Given the description of an element on the screen output the (x, y) to click on. 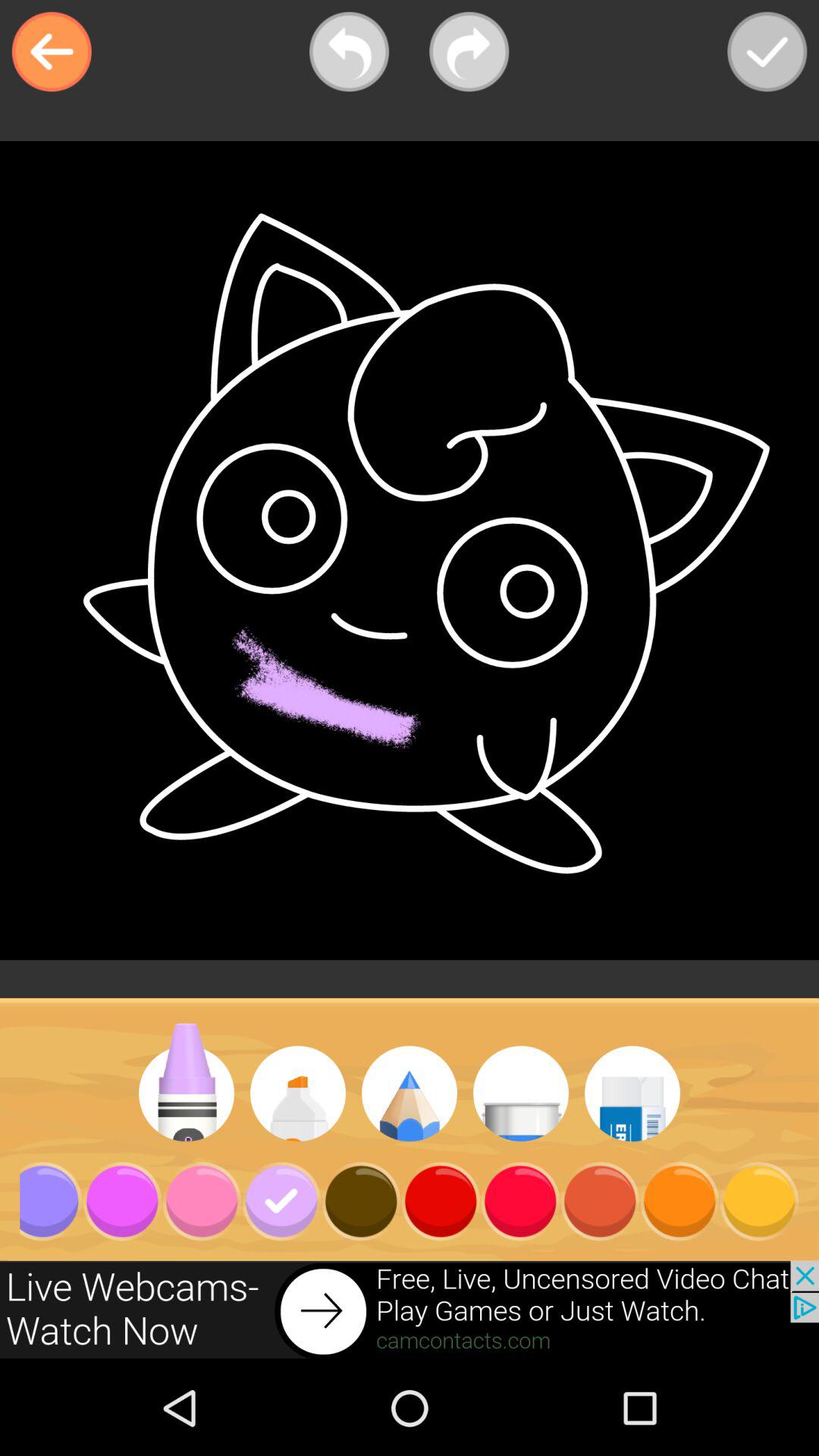
go back (349, 51)
